Given the description of an element on the screen output the (x, y) to click on. 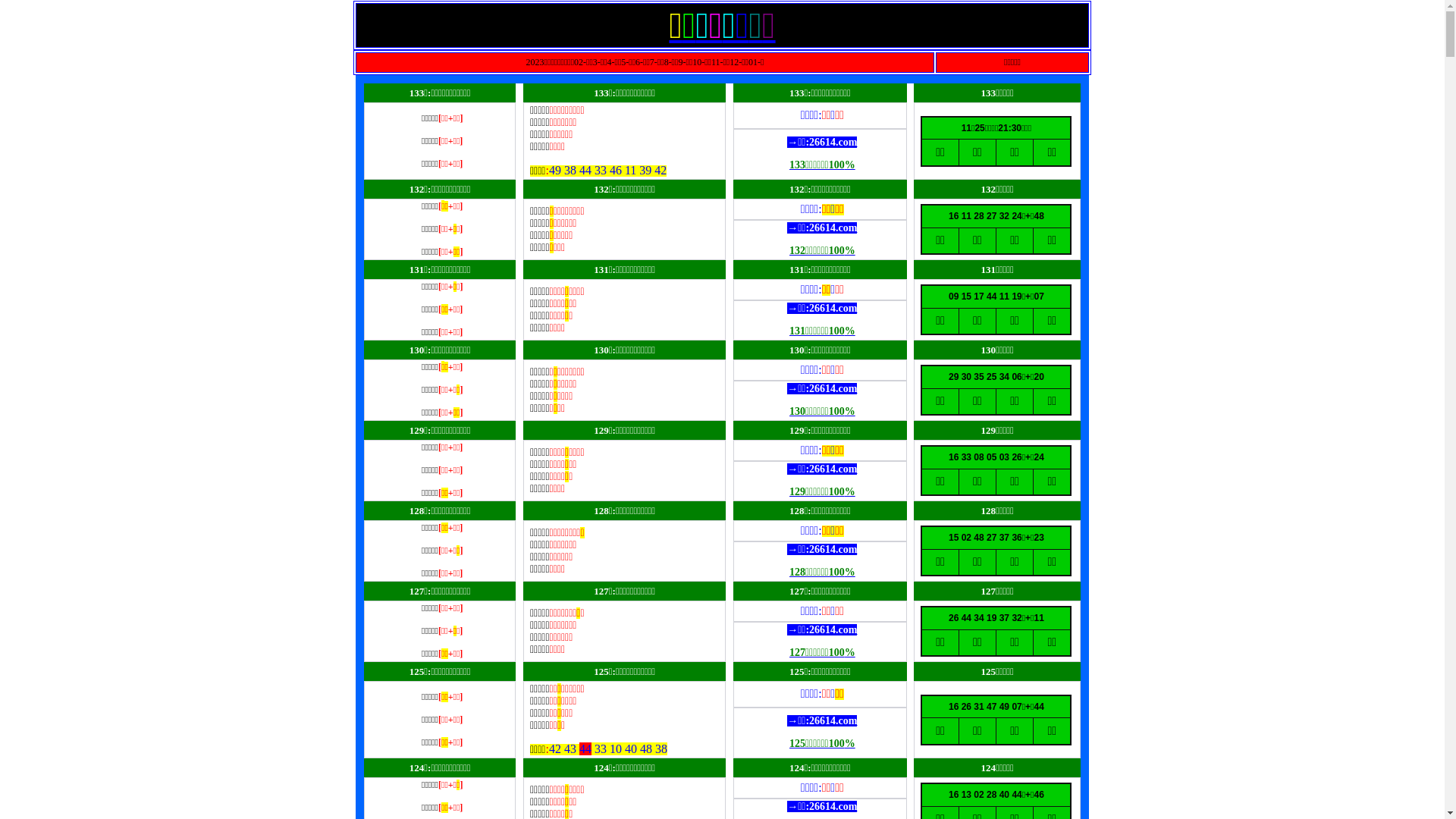
% Element type: text (849, 250)
% Element type: text (849, 330)
% Element type: text (849, 571)
% Element type: text (849, 164)
% Element type: text (849, 743)
% Element type: text (849, 411)
% Element type: text (849, 652)
% Element type: text (849, 491)
